Given the description of an element on the screen output the (x, y) to click on. 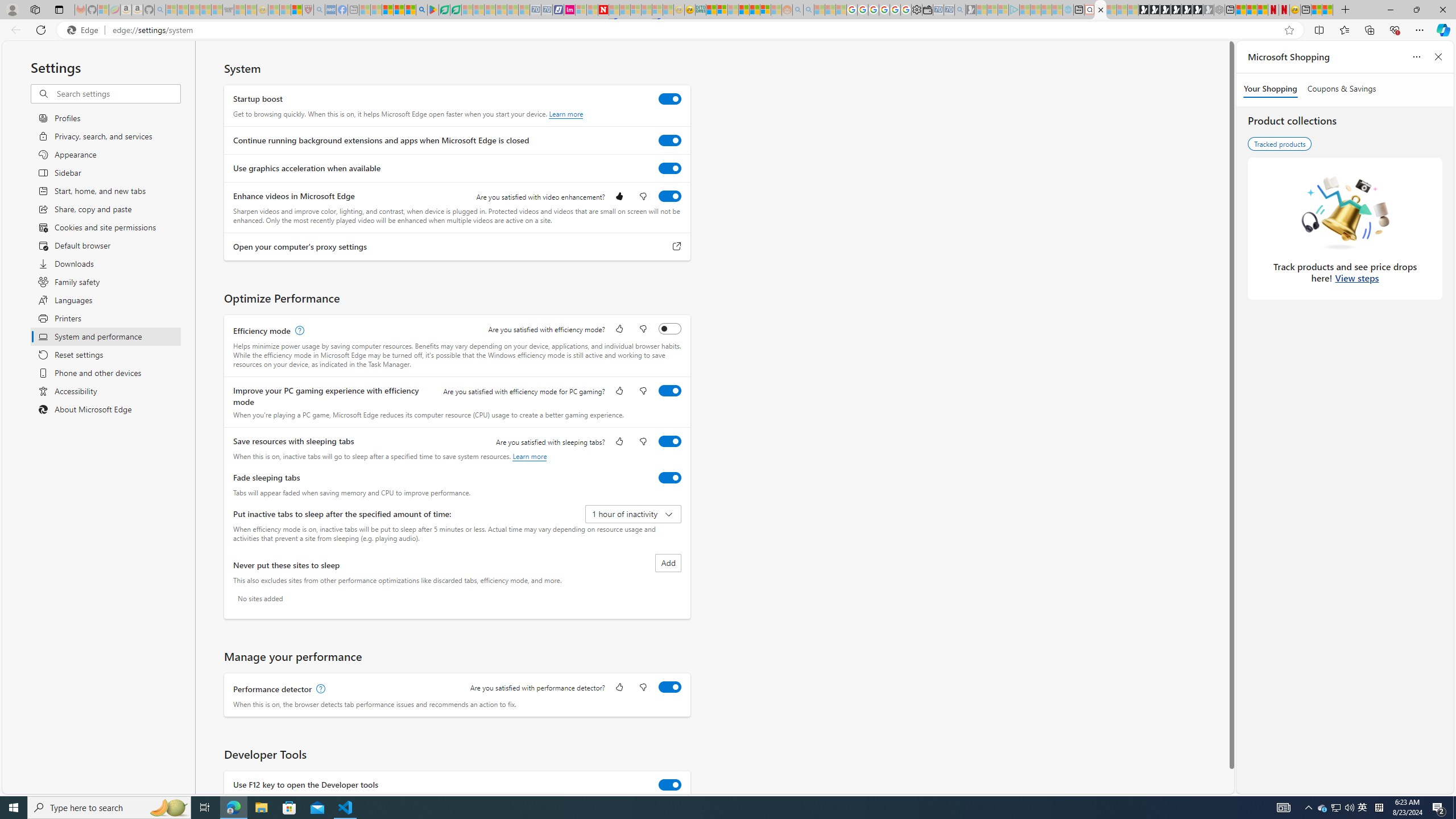
Efficiency mode (669, 328)
Local - MSN (296, 9)
Terms of Use Agreement (443, 9)
Bing Real Estate - Home sales and rental listings - Sleeping (959, 9)
Search settings (117, 93)
